Given the description of an element on the screen output the (x, y) to click on. 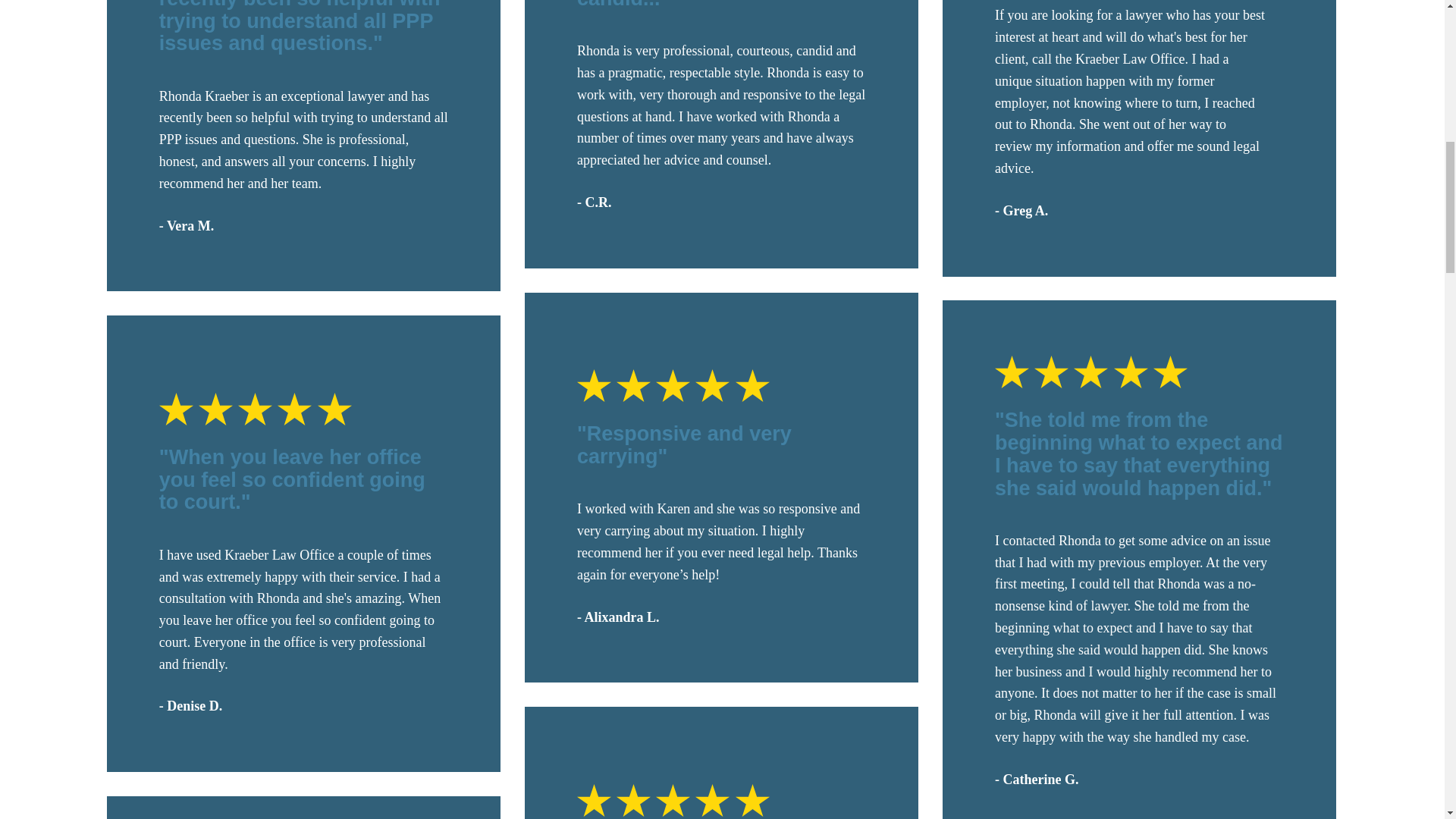
5 Star Rating (721, 385)
5 Star Rating (721, 799)
5 Star Rating (303, 408)
